Given the description of an element on the screen output the (x, y) to click on. 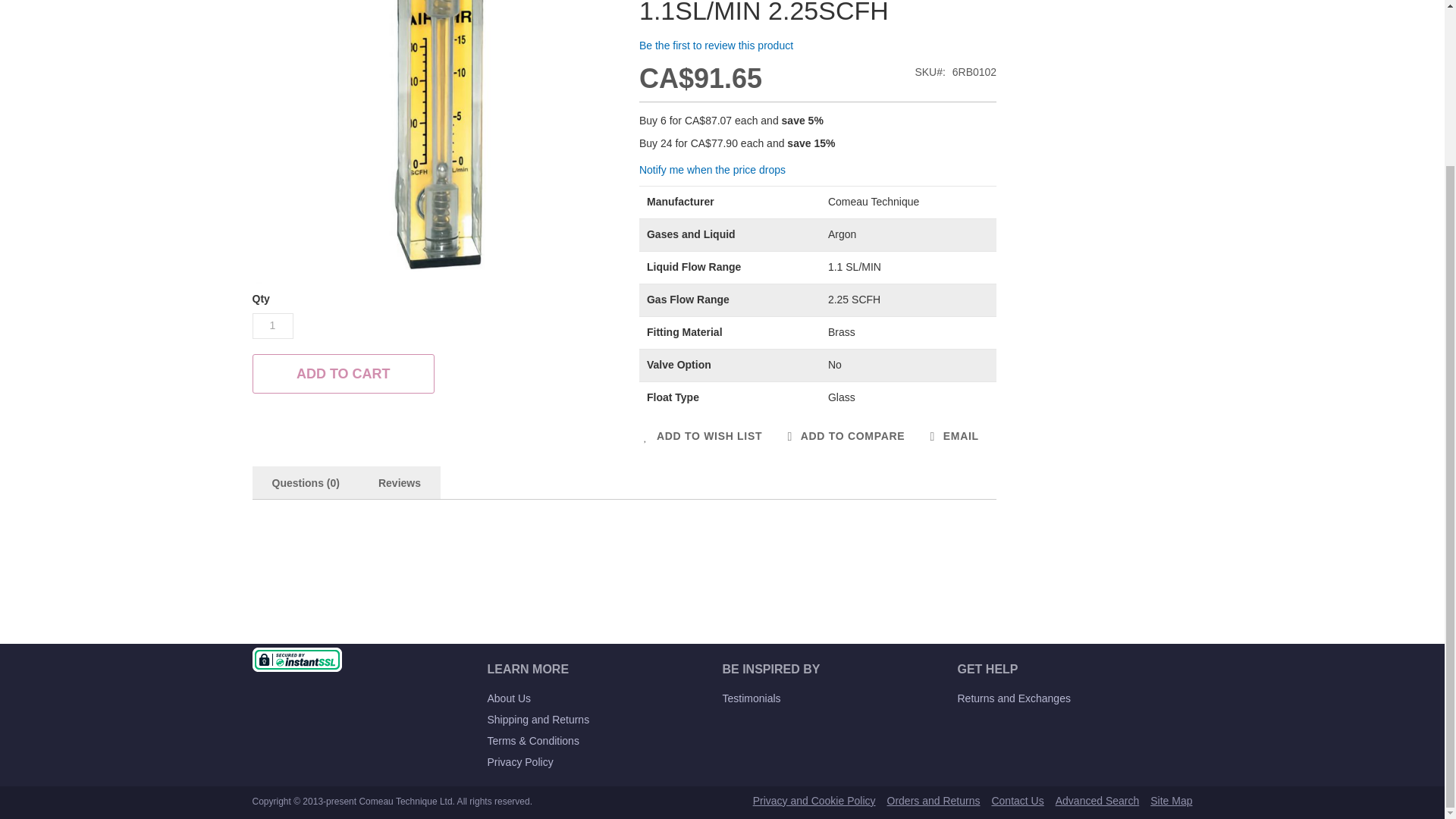
Qty (271, 325)
1 (271, 325)
Notify me when the price drops (712, 169)
Add to Cart (342, 373)
